Given the description of an element on the screen output the (x, y) to click on. 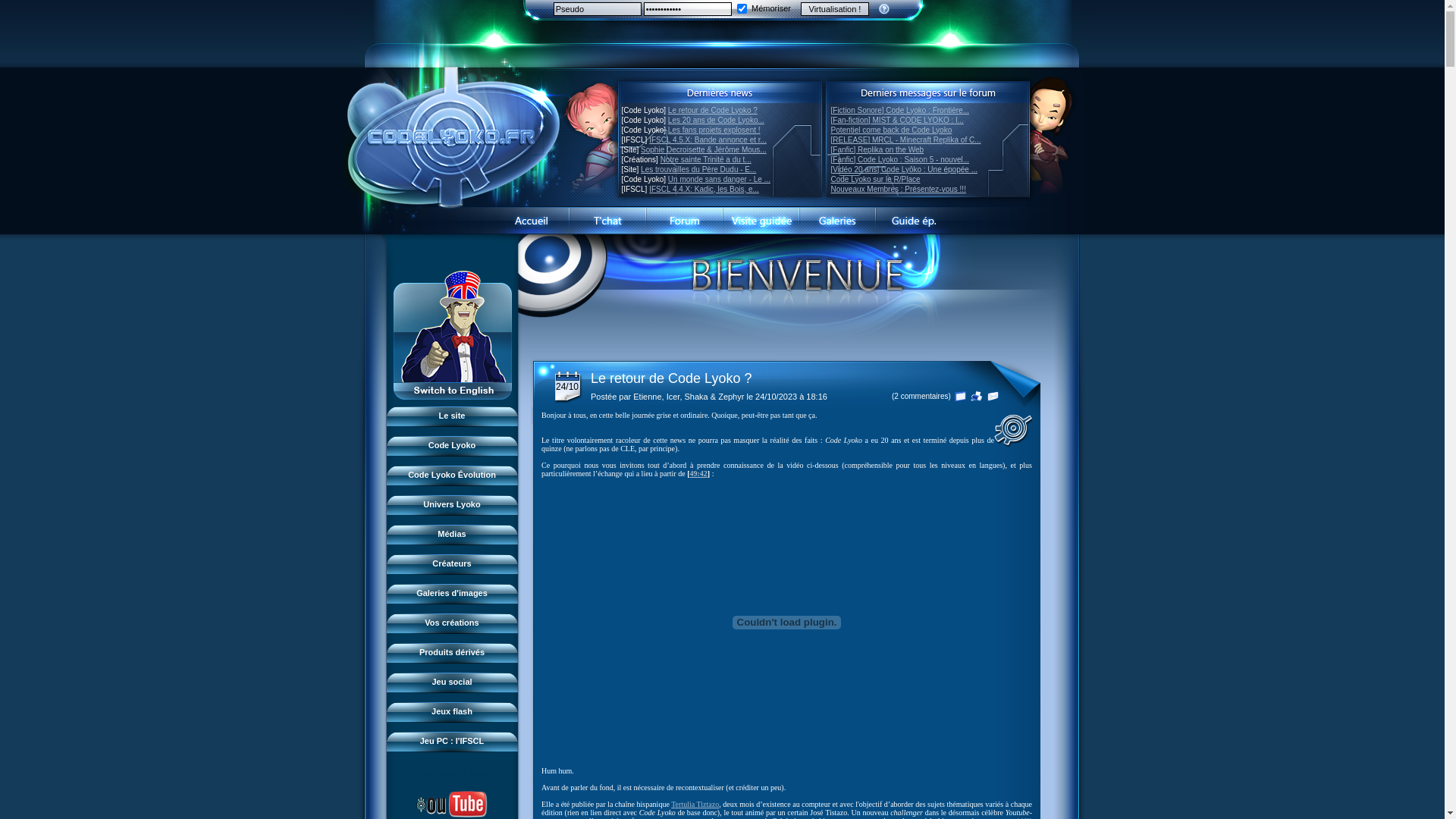
Potentiel come back de Code Lyoko Element type: text (891, 129)
Virtualisation ! Element type: text (834, 8)
Tertulia Tiztazo Element type: text (694, 804)
Suivre @CodeLyokoFr Element type: text (451, 773)
49:42 Element type: text (697, 473)
Les 20 ans de Code Lyoko... Element type: text (716, 119)
[RELEASE] MRCL - Minecraft Replika of C... Element type: text (906, 138)
[Fanfic] Replika on the Web Element type: text (877, 149)
IFSCL 4.4.X: Kadic, les Bois, e... Element type: text (704, 189)
[Fanfic] Code Lyoko : Saison 5 - nouvel... Element type: text (900, 158)
Le retour de Code Lyoko ? Element type: text (712, 110)
Les fans projets explosent ! Element type: text (714, 129)
IFSCL 4.5.X: Bande annonce et r... Element type: text (707, 138)
Code Lyoko sur le R/Place Element type: text (875, 178)
[Fan-fiction] MIST & CODE LYOKO : l... Element type: text (897, 119)
Un monde sans danger - Le ... Element type: text (719, 178)
